Given the description of an element on the screen output the (x, y) to click on. 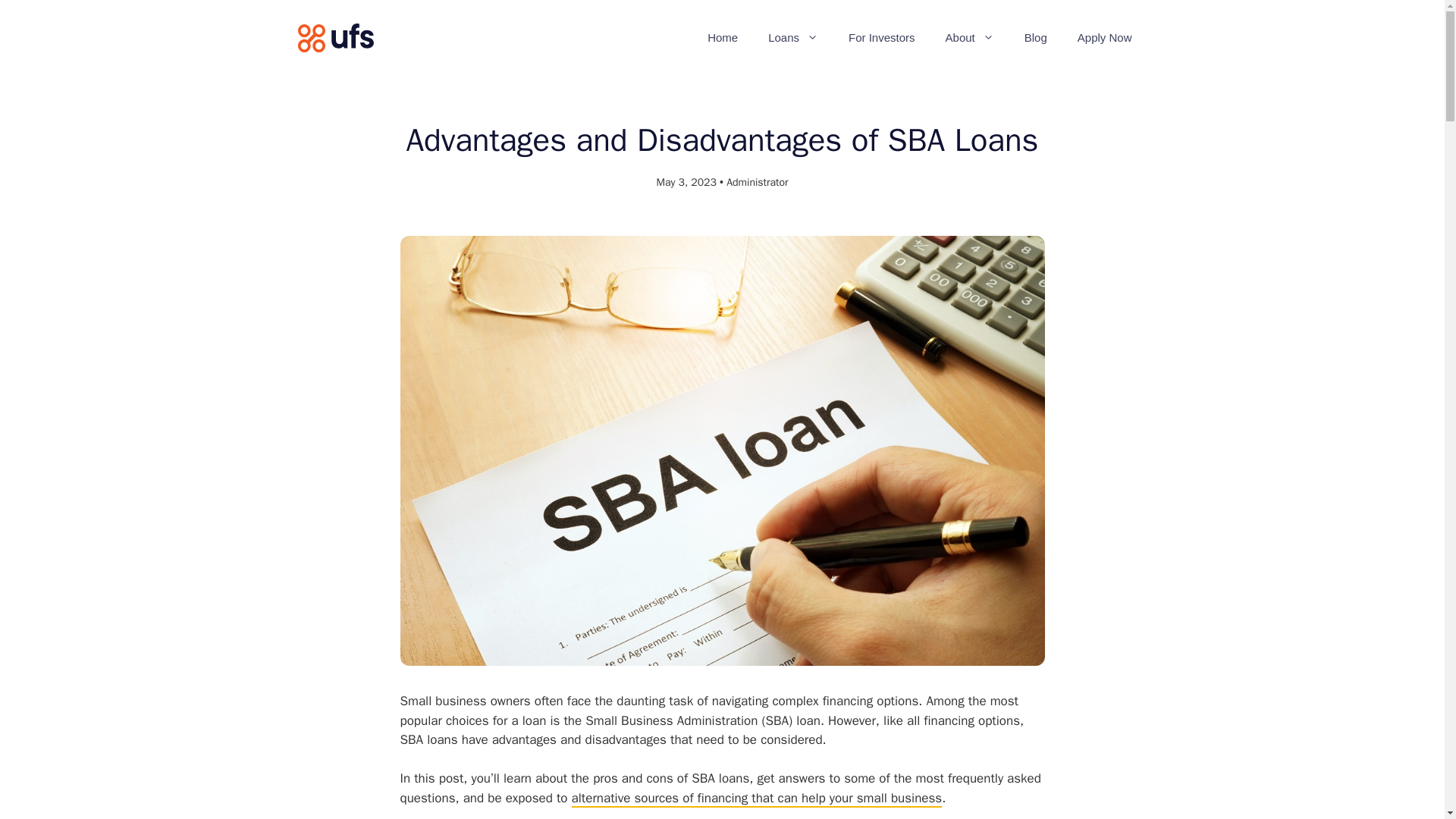
View all posts by Administrator (756, 182)
For Investors (881, 37)
Home (722, 37)
Blog (1035, 37)
About (969, 37)
Administrator (756, 182)
Loans (792, 37)
Apply Now (1104, 37)
